Given the description of an element on the screen output the (x, y) to click on. 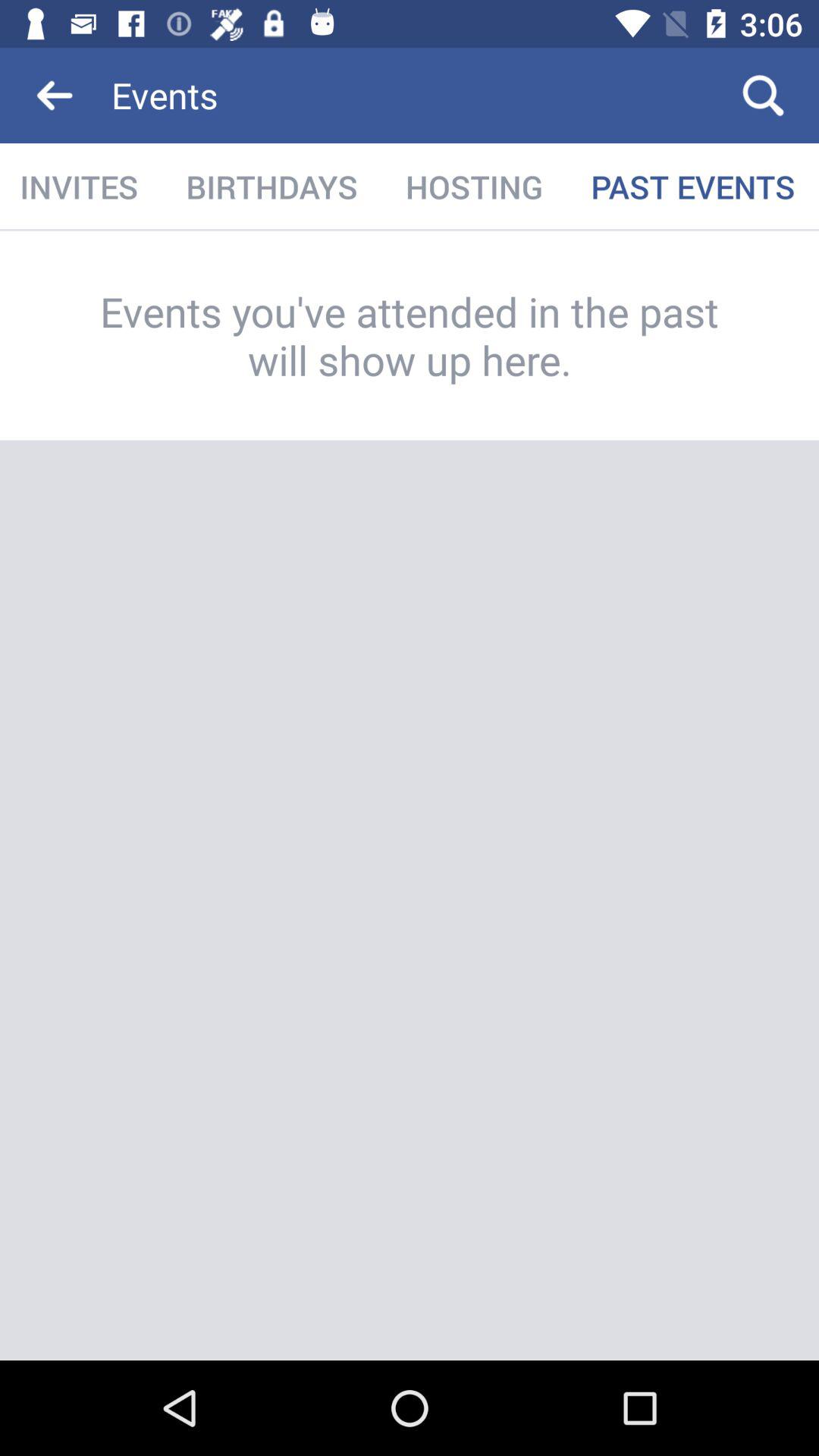
launch item to the right of birthdays item (474, 186)
